Given the description of an element on the screen output the (x, y) to click on. 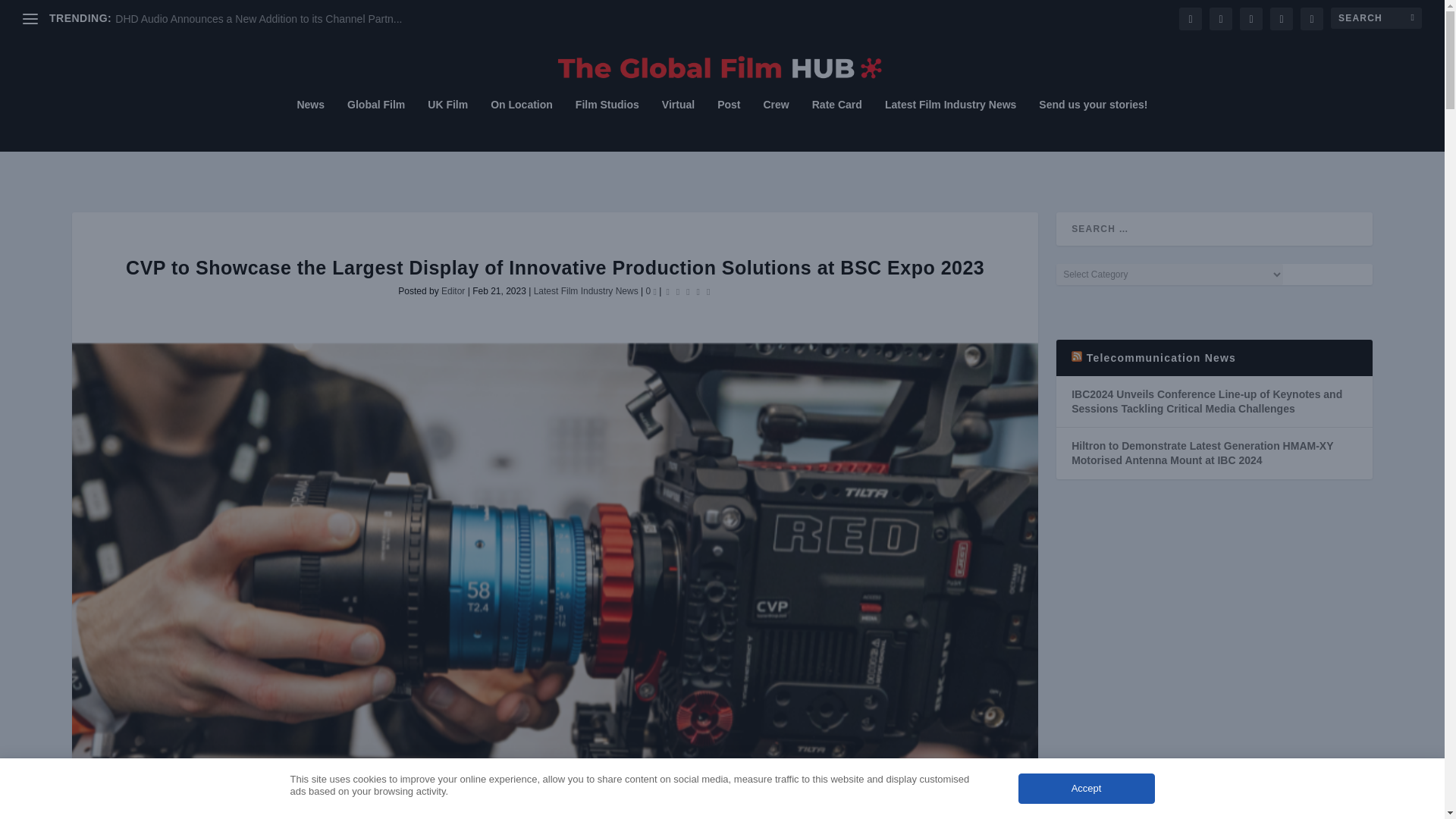
Posts by Editor (452, 290)
Rate Card (836, 124)
Film Studios (607, 124)
Global Film (375, 124)
Rating: 0.00 (687, 290)
Search for: (1376, 17)
Send us your stories! (1093, 124)
Editor (452, 290)
DHD Audio Announces a New Addition to its Channel Partn... (258, 19)
On Location (521, 124)
Latest Film Industry News (950, 124)
